Given the description of an element on the screen output the (x, y) to click on. 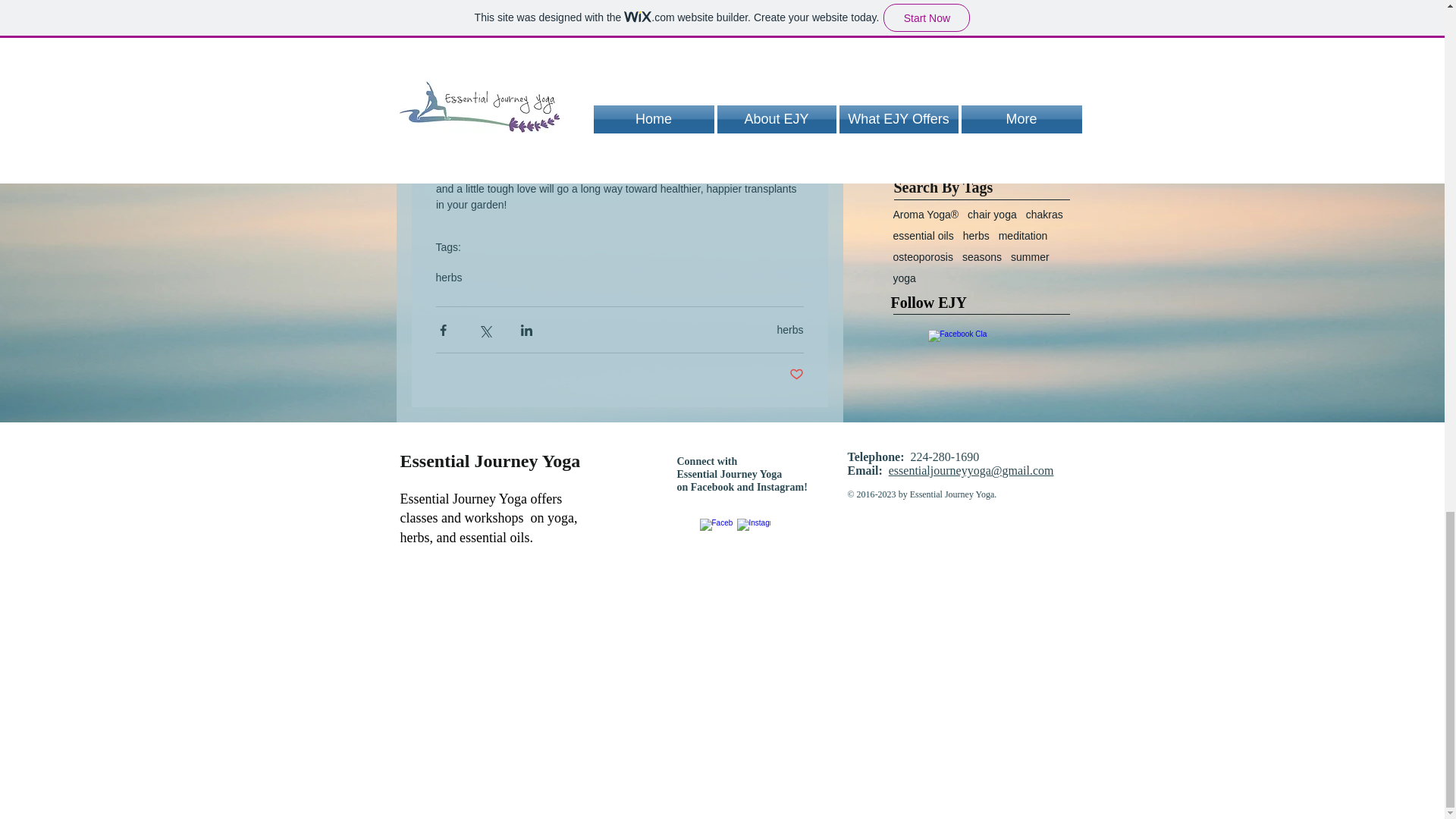
herbs (448, 277)
seasons (981, 256)
chakras (1044, 214)
chair yoga (992, 214)
herbs (789, 329)
Baking with Essential Oils! (998, 79)
Post not marked as liked (796, 374)
essential oils (923, 235)
osteoporosis (923, 256)
Carrier Oil Options from TJ's (998, 1)
